Given the description of an element on the screen output the (x, y) to click on. 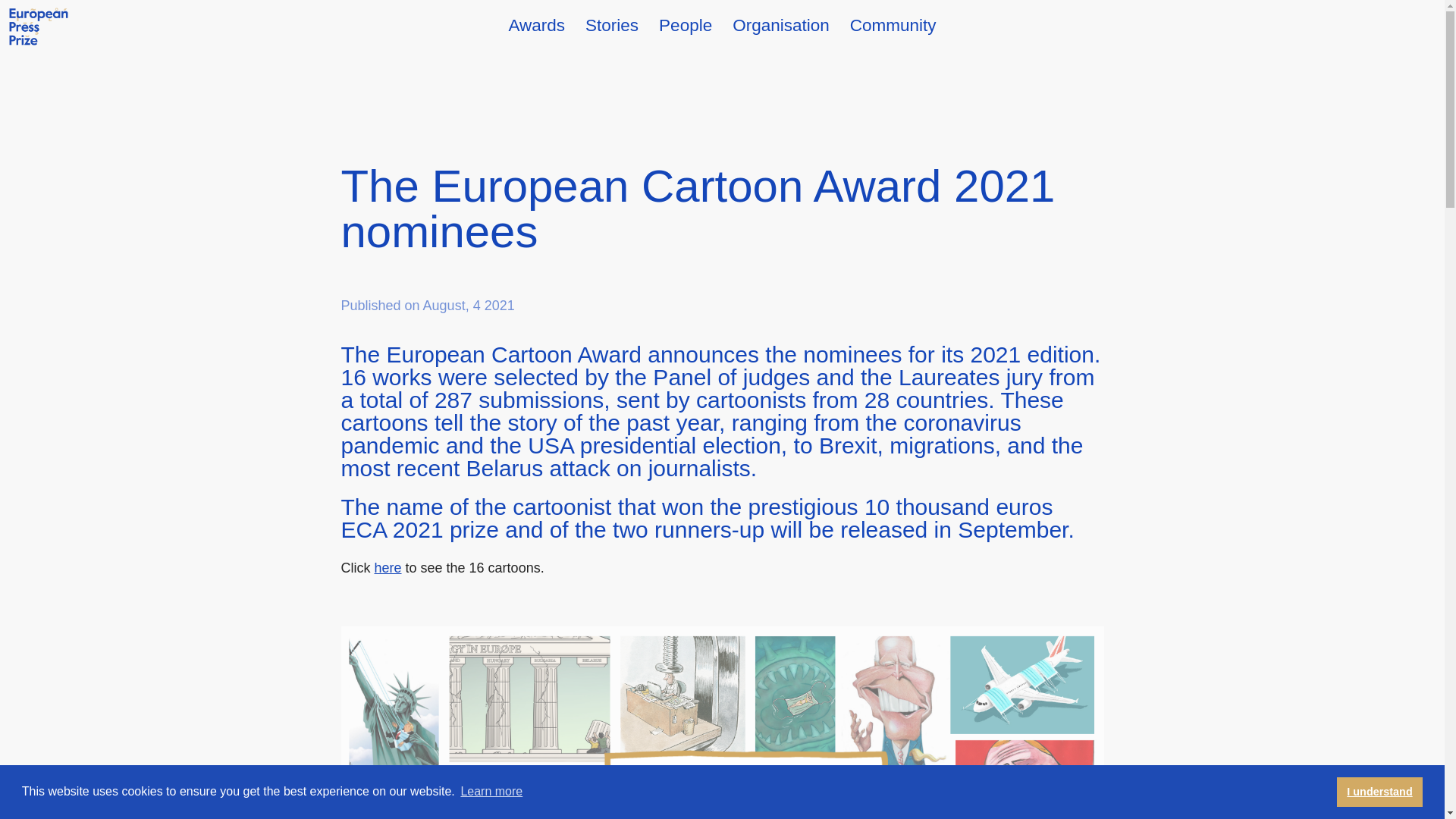
People (685, 24)
I understand (1379, 791)
Learn more (491, 791)
Awards (536, 24)
Stories (612, 24)
